Given the description of an element on the screen output the (x, y) to click on. 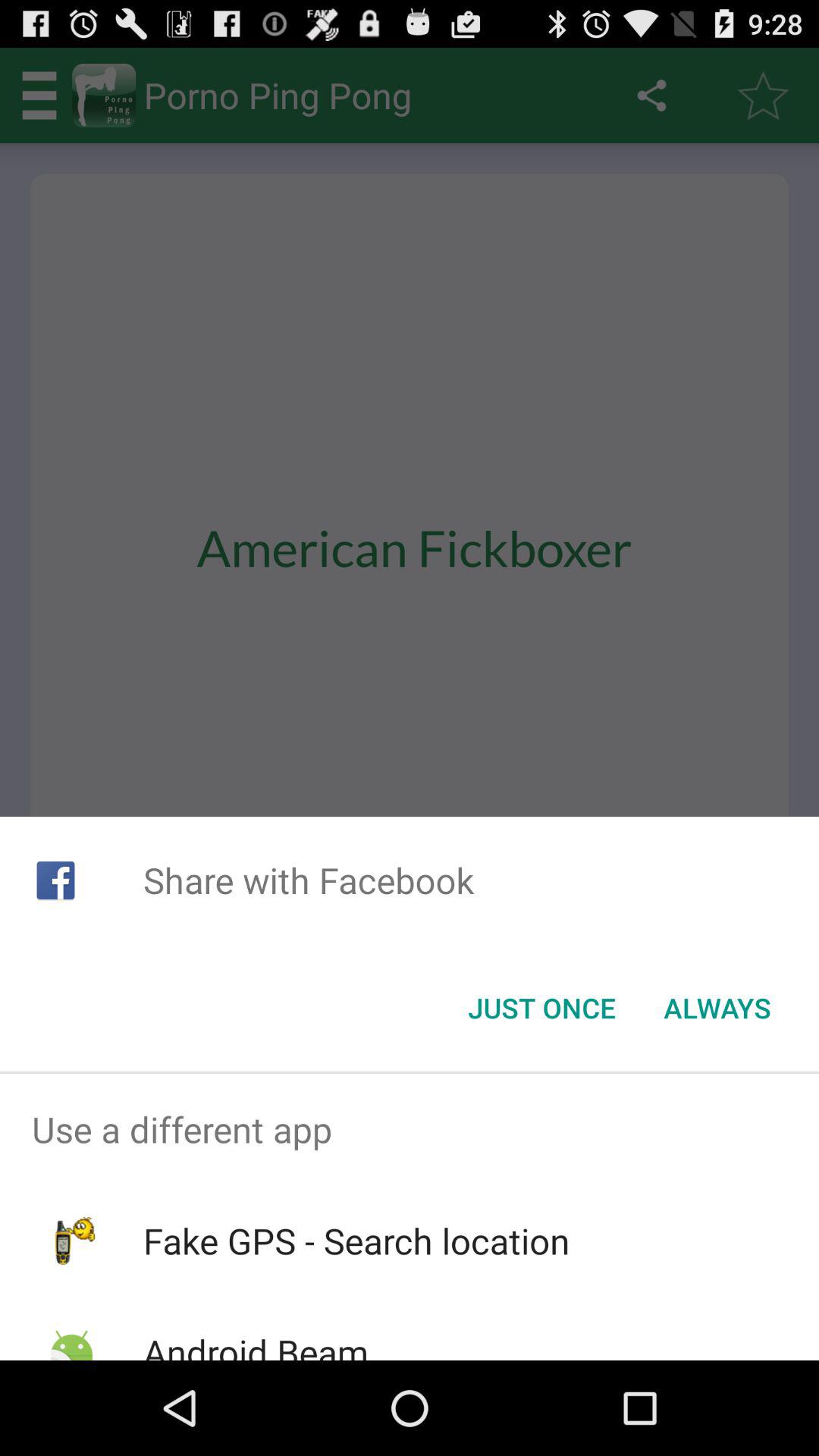
select item below the share with facebook icon (541, 1007)
